Given the description of an element on the screen output the (x, y) to click on. 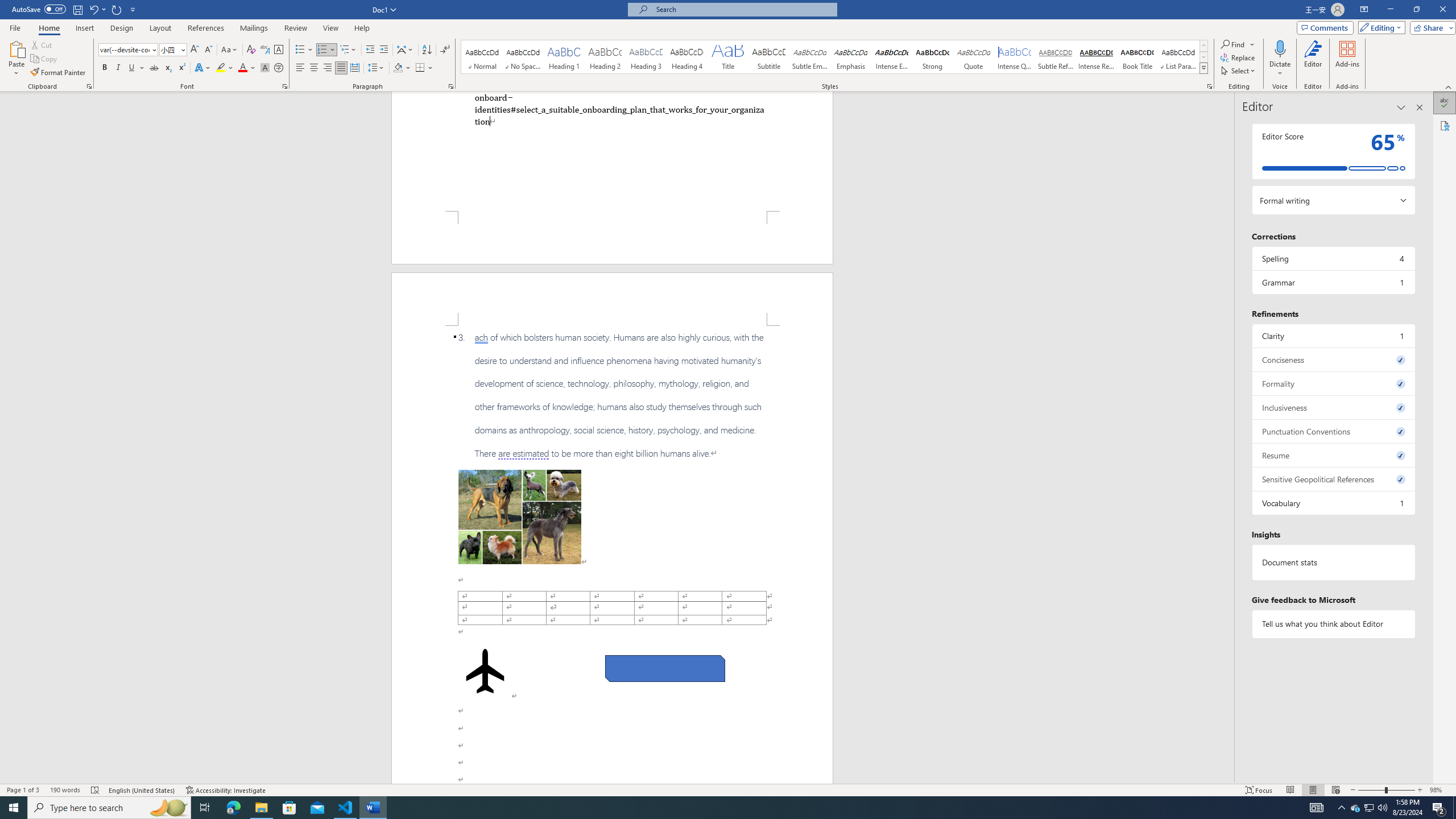
Intense Quote (1014, 56)
Intense Reference (1095, 56)
Book Title (1136, 56)
Formality, 0 issues. Press space or enter to review items. (1333, 383)
Undo Apply Quick Style (96, 9)
